Given the description of an element on the screen output the (x, y) to click on. 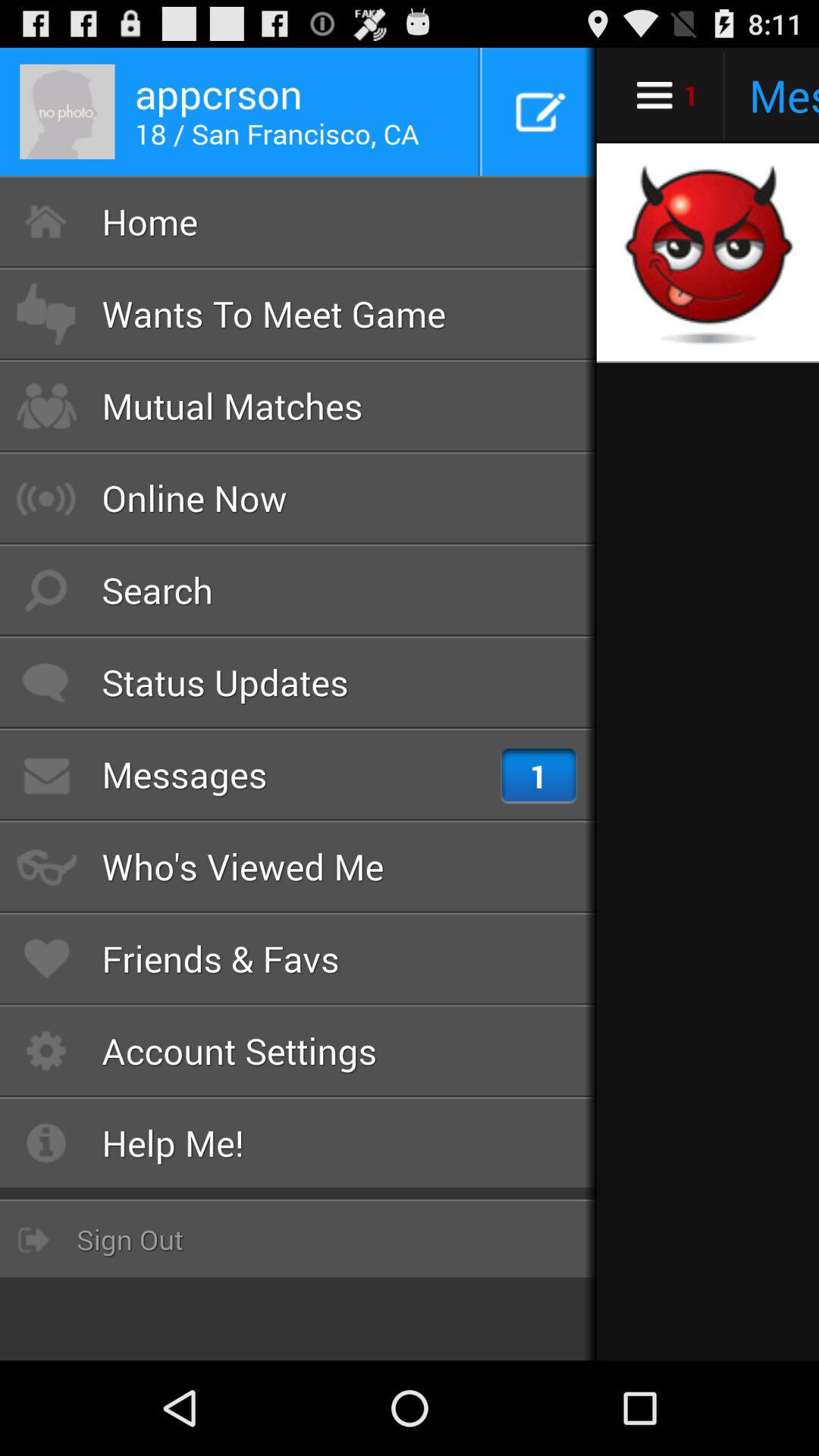
click on the profile picture at top left corner (67, 111)
click on the image (705, 253)
click on the button which is next to the appcrson (539, 112)
